Given the description of an element on the screen output the (x, y) to click on. 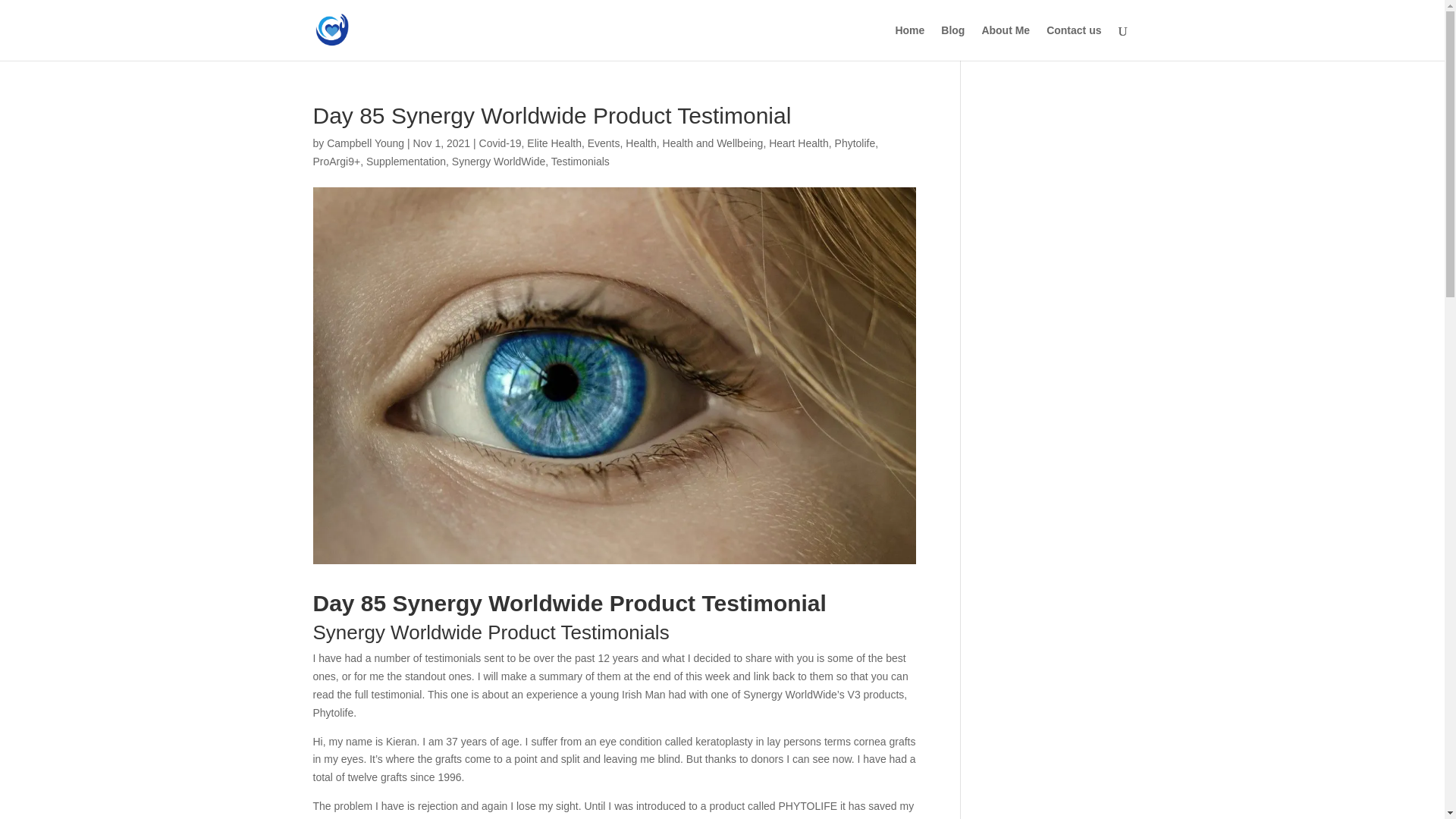
Elite Health (553, 143)
Campbell Young (365, 143)
Supplementation (405, 161)
Health and Wellbeing (712, 143)
Heart Health (798, 143)
Phytolife (855, 143)
Testimonials (580, 161)
Health (641, 143)
About Me (1005, 42)
Synergy WorldWide (497, 161)
Contact us (1073, 42)
Events (604, 143)
Covid-19 (500, 143)
Posts by Campbell Young (365, 143)
